Given the description of an element on the screen output the (x, y) to click on. 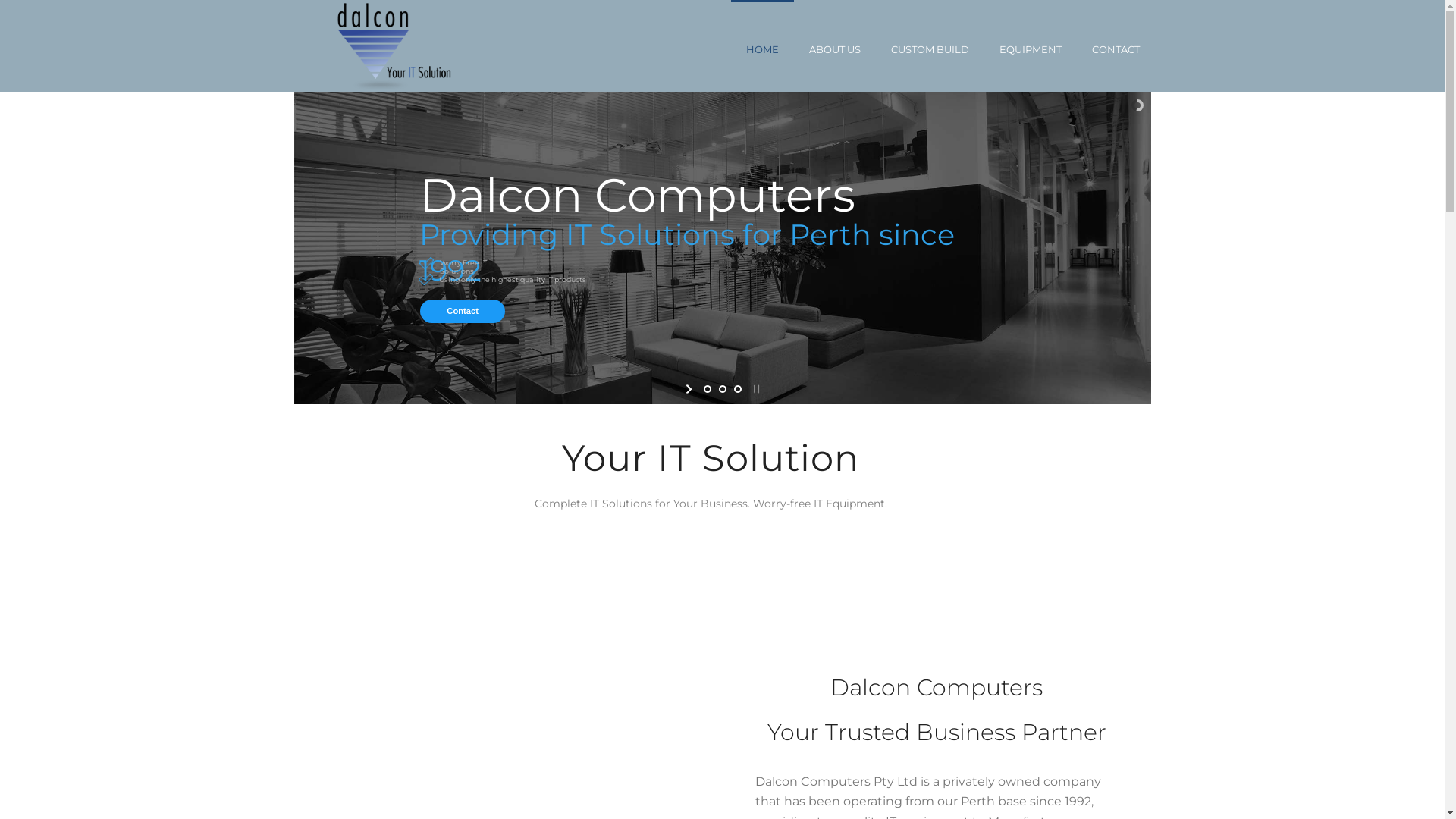
ABOUT US Element type: text (834, 45)
HOME Element type: text (762, 45)
EQUIPMENT Element type: text (1030, 45)
Dalcon Computers Element type: hover (395, 45)
CONTACT Element type: text (1115, 45)
CUSTOM BUILD Element type: text (929, 45)
